Given the description of an element on the screen output the (x, y) to click on. 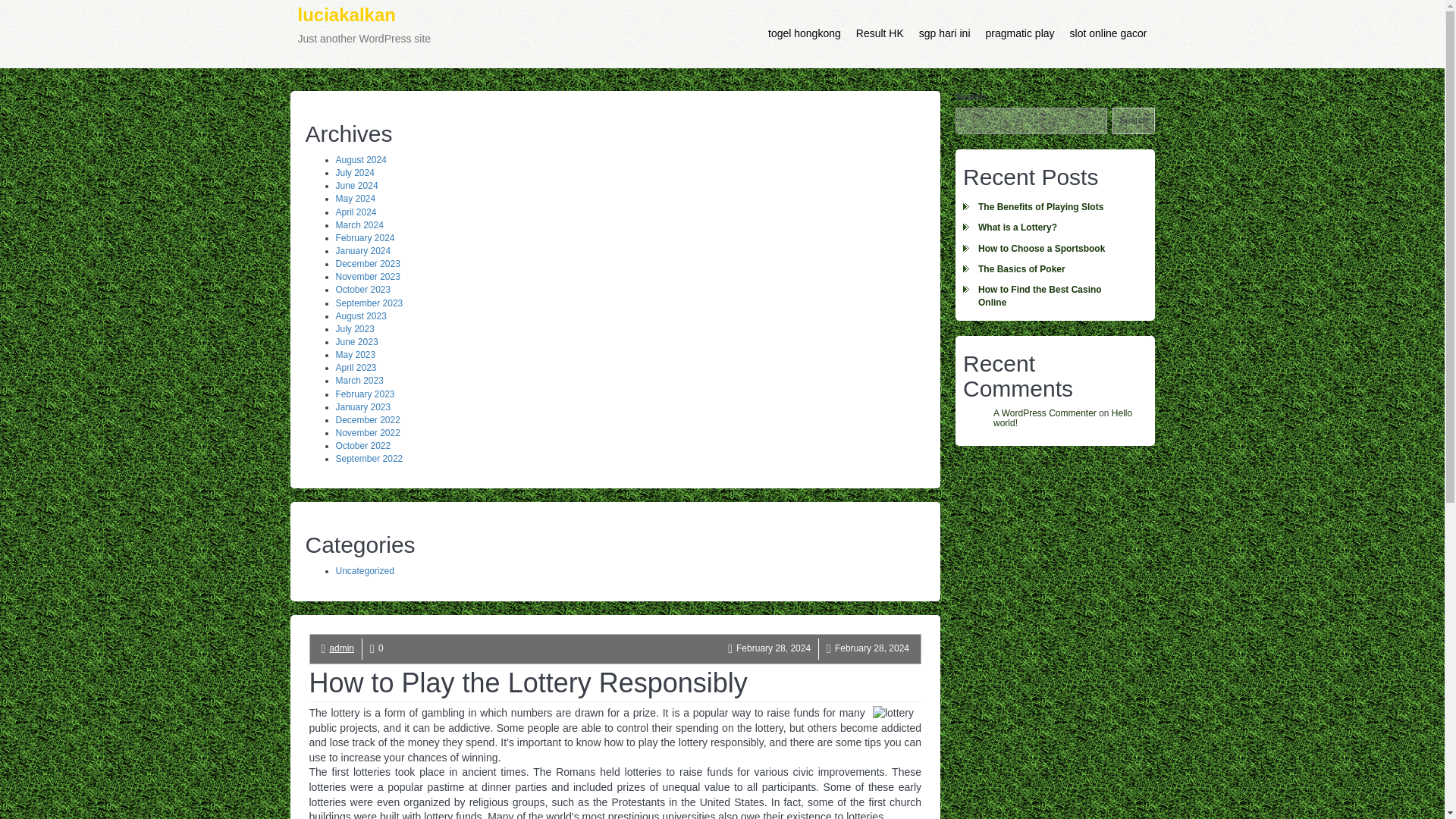
December 2022 (366, 419)
How to Choose a Sportsbook (1054, 249)
slot online gacor (1108, 33)
sgp hari ini (944, 33)
togel hongkong (804, 33)
togel hongkong (804, 33)
August 2023 (359, 316)
February 2024 (364, 237)
May 2024 (354, 198)
July 2023 (354, 328)
